Given the description of an element on the screen output the (x, y) to click on. 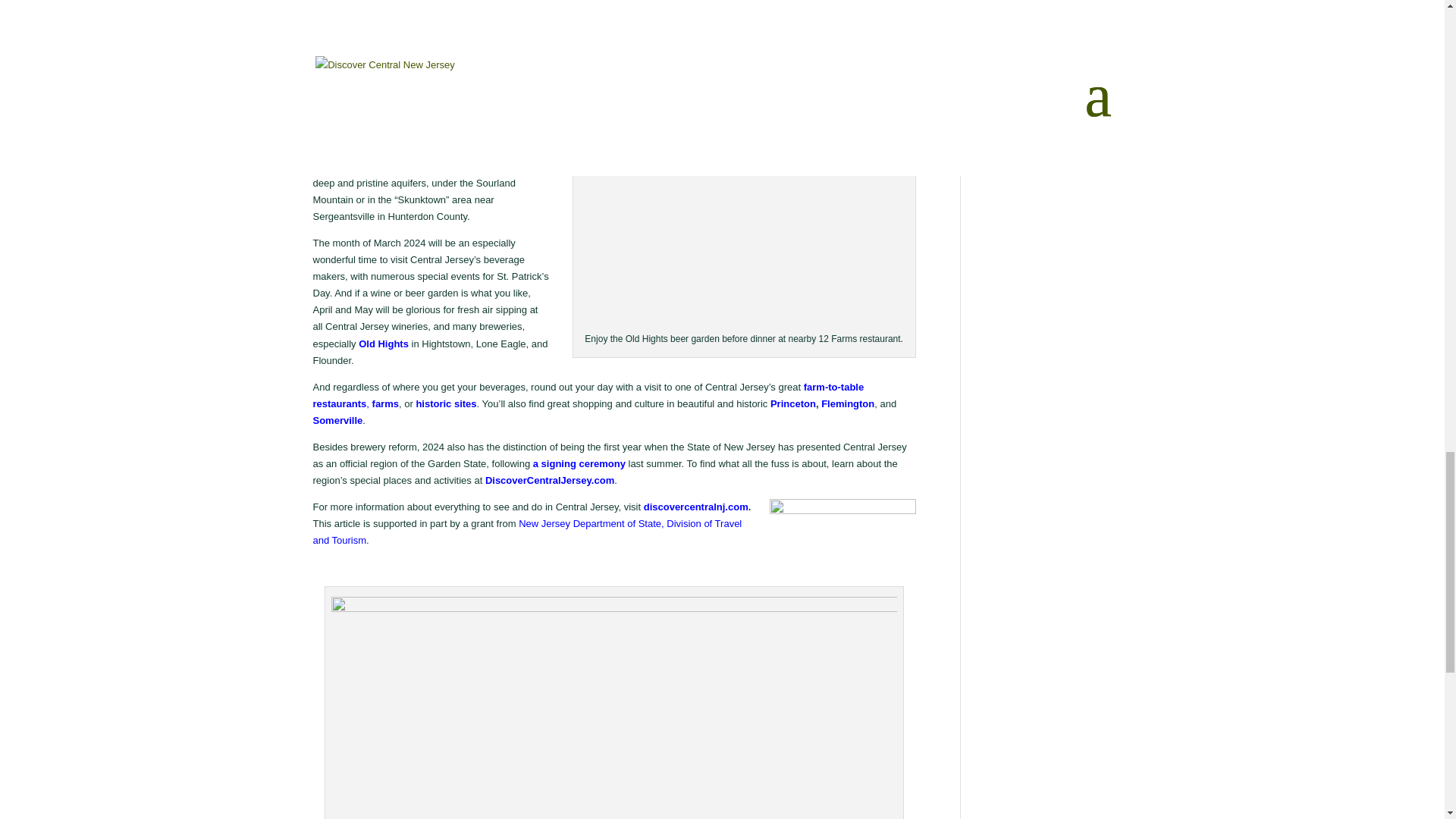
Unionville Vineyards (730, 4)
Flemington (848, 403)
festival tickets early (851, 35)
historic sites (445, 403)
farm-to-table restaurants (588, 395)
Sourland Mountain Spirits (394, 115)
Old Hights (383, 343)
farms (385, 403)
Bellemara Distillery (358, 132)
Somerville (337, 419)
